Given the description of an element on the screen output the (x, y) to click on. 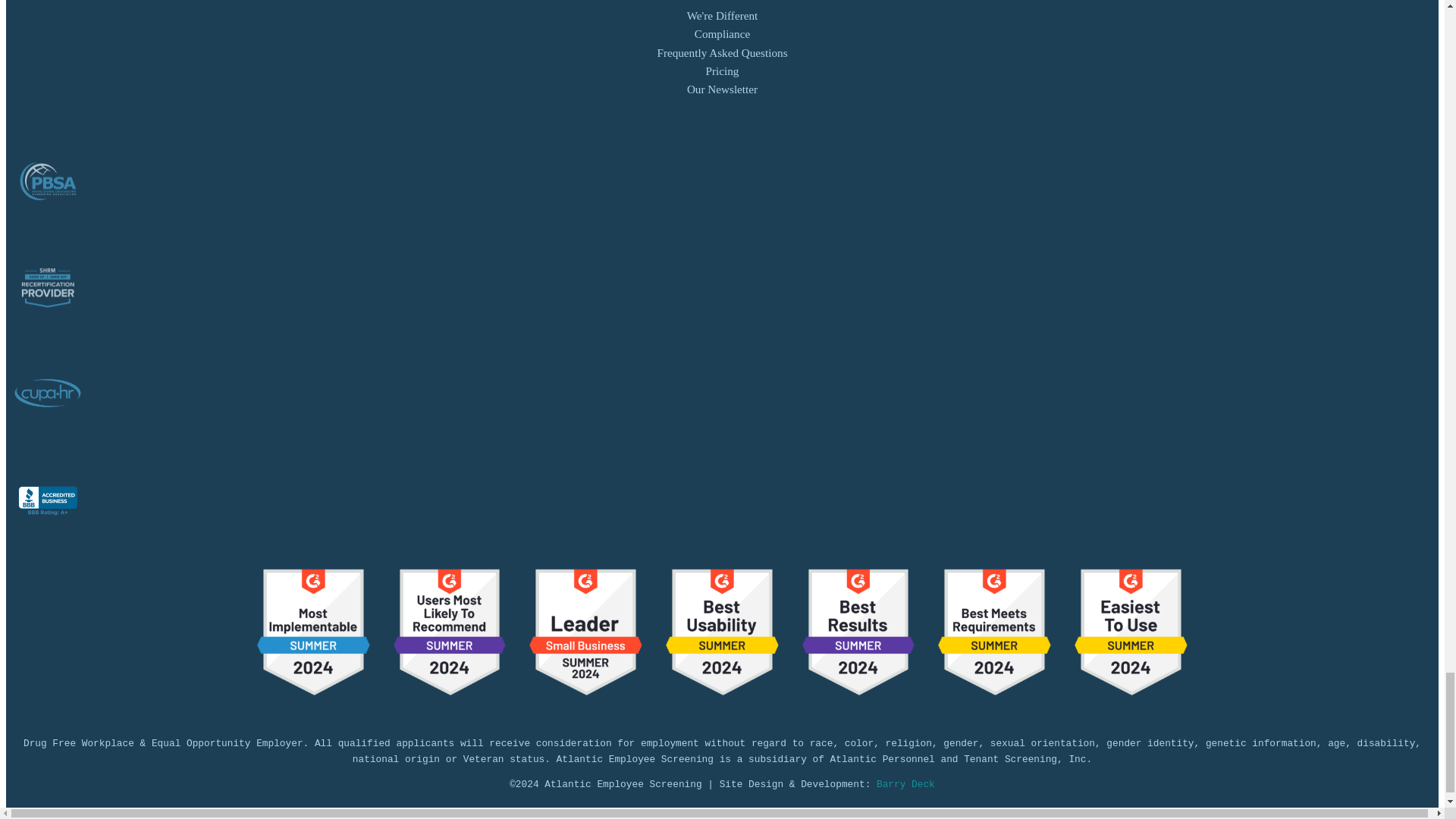
Barry Deck Website Link (905, 784)
